Given the description of an element on the screen output the (x, y) to click on. 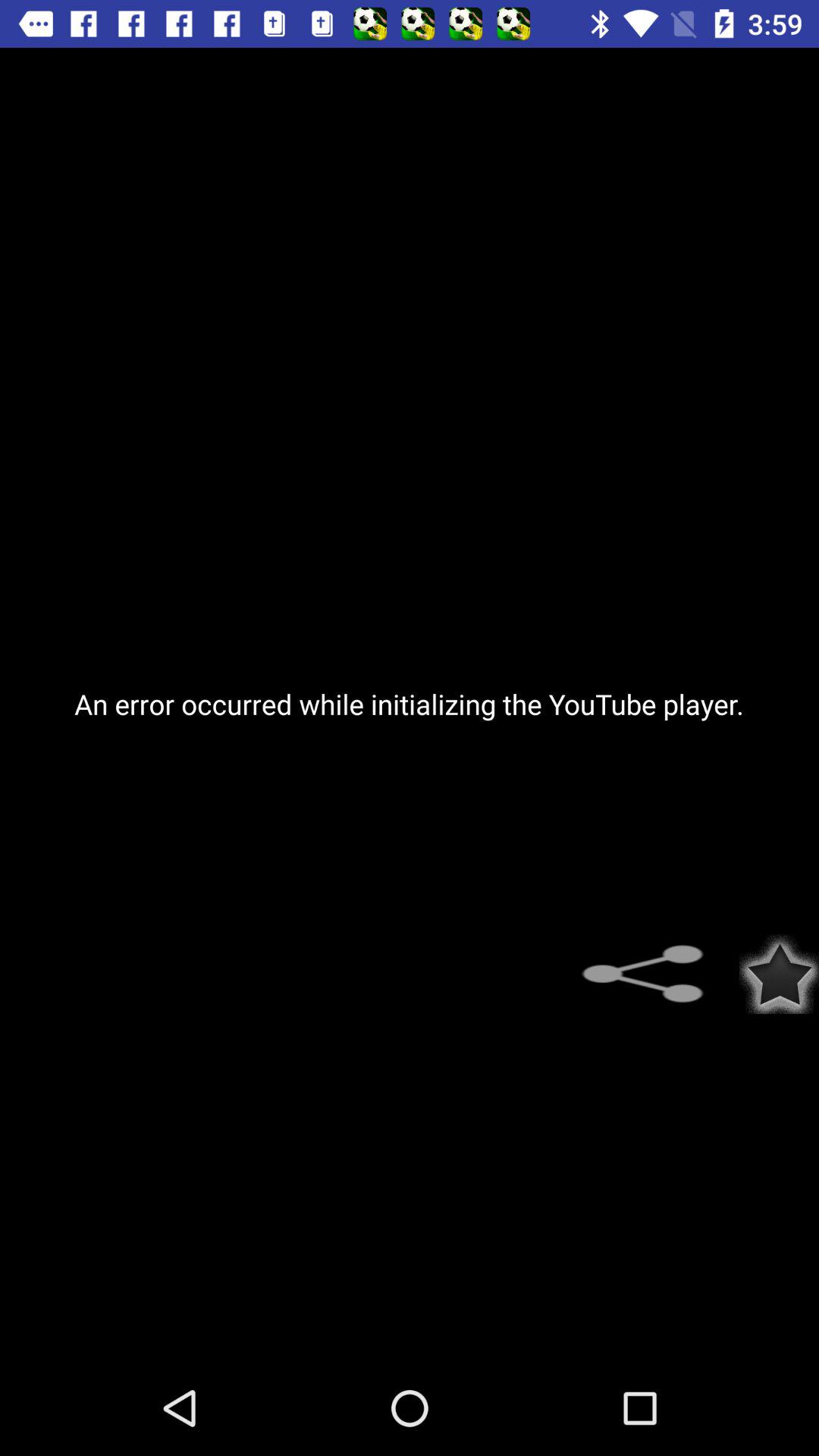
tap icon below the an error occurred icon (779, 974)
